Given the description of an element on the screen output the (x, y) to click on. 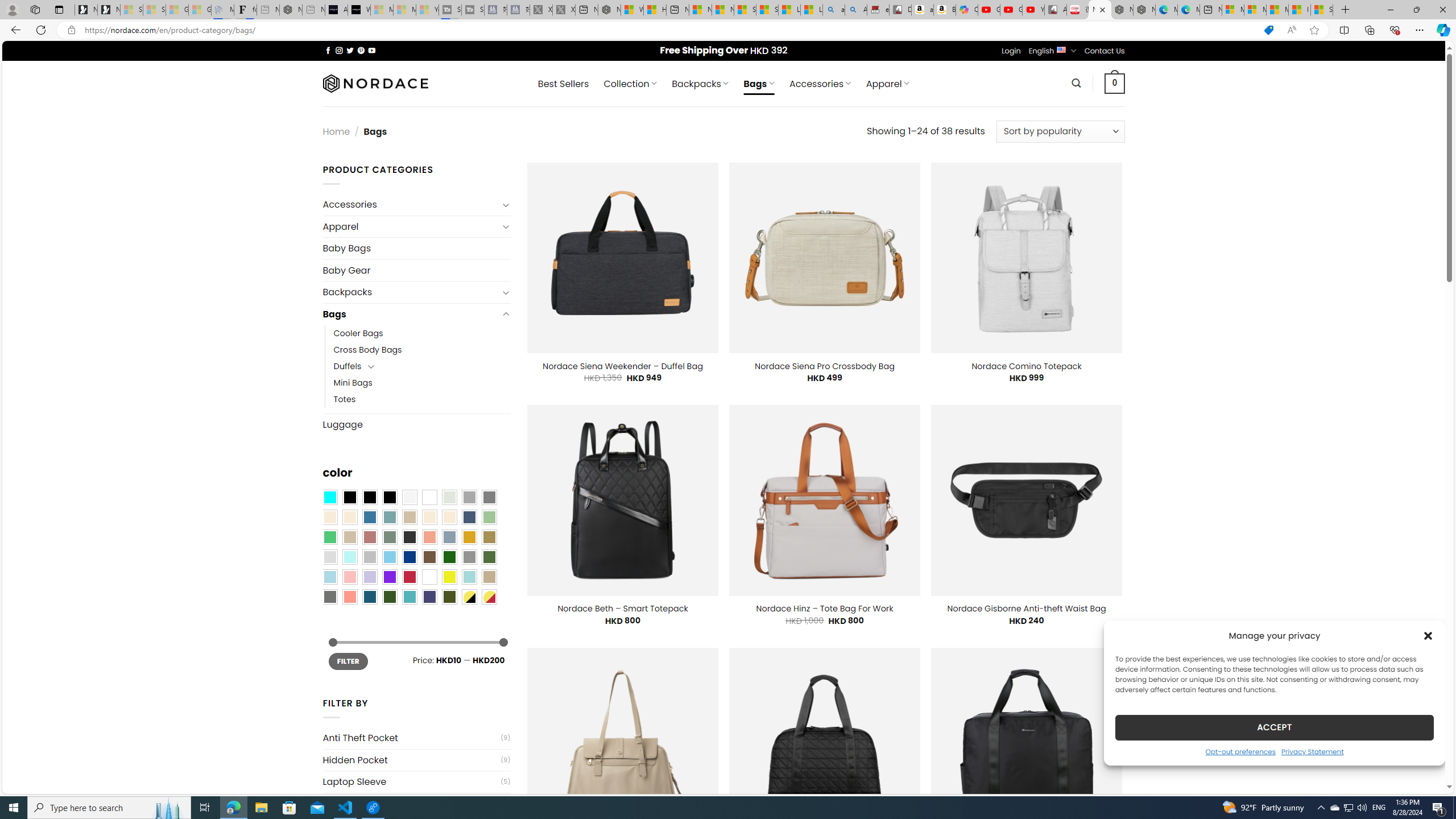
Emerald Green (329, 536)
Baby Gear (416, 269)
Login (1010, 50)
Gloom - YouTube (1010, 9)
Microsoft Start Sports - Sleeping (381, 9)
Laptop Sleeve (410, 781)
Black (369, 497)
Anti Theft Pocket(9) (416, 738)
All Black (349, 497)
USB Charging Port(5) (416, 803)
Class: cmplz-close (1428, 635)
Cooler Bags (422, 333)
Brown (429, 557)
Cooler Bags (357, 333)
